Given the description of an element on the screen output the (x, y) to click on. 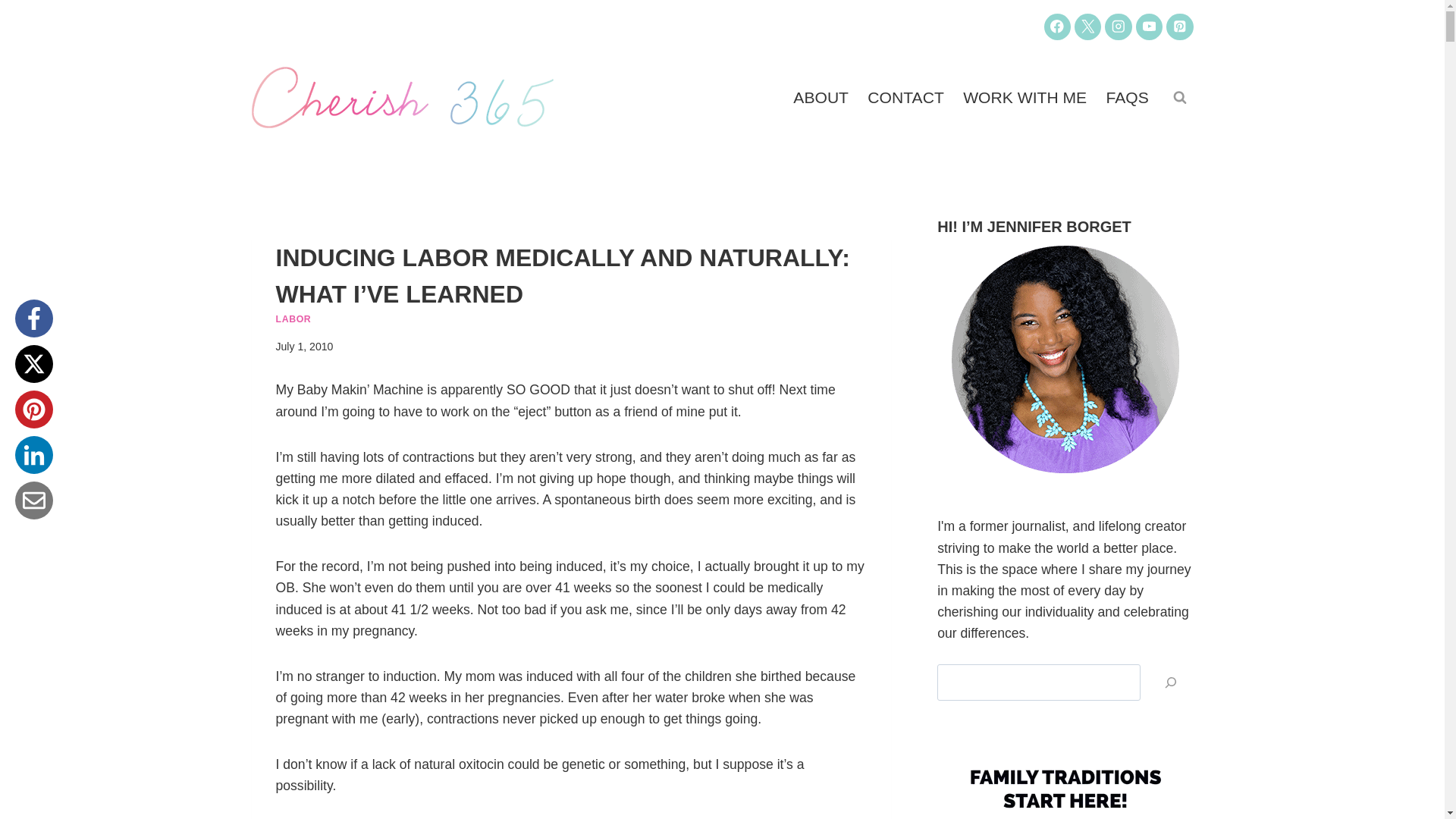
WORK WITH ME (1024, 97)
FAQS (1127, 97)
ABOUT (821, 97)
LABOR (293, 318)
CONTACT (906, 97)
